Given the description of an element on the screen output the (x, y) to click on. 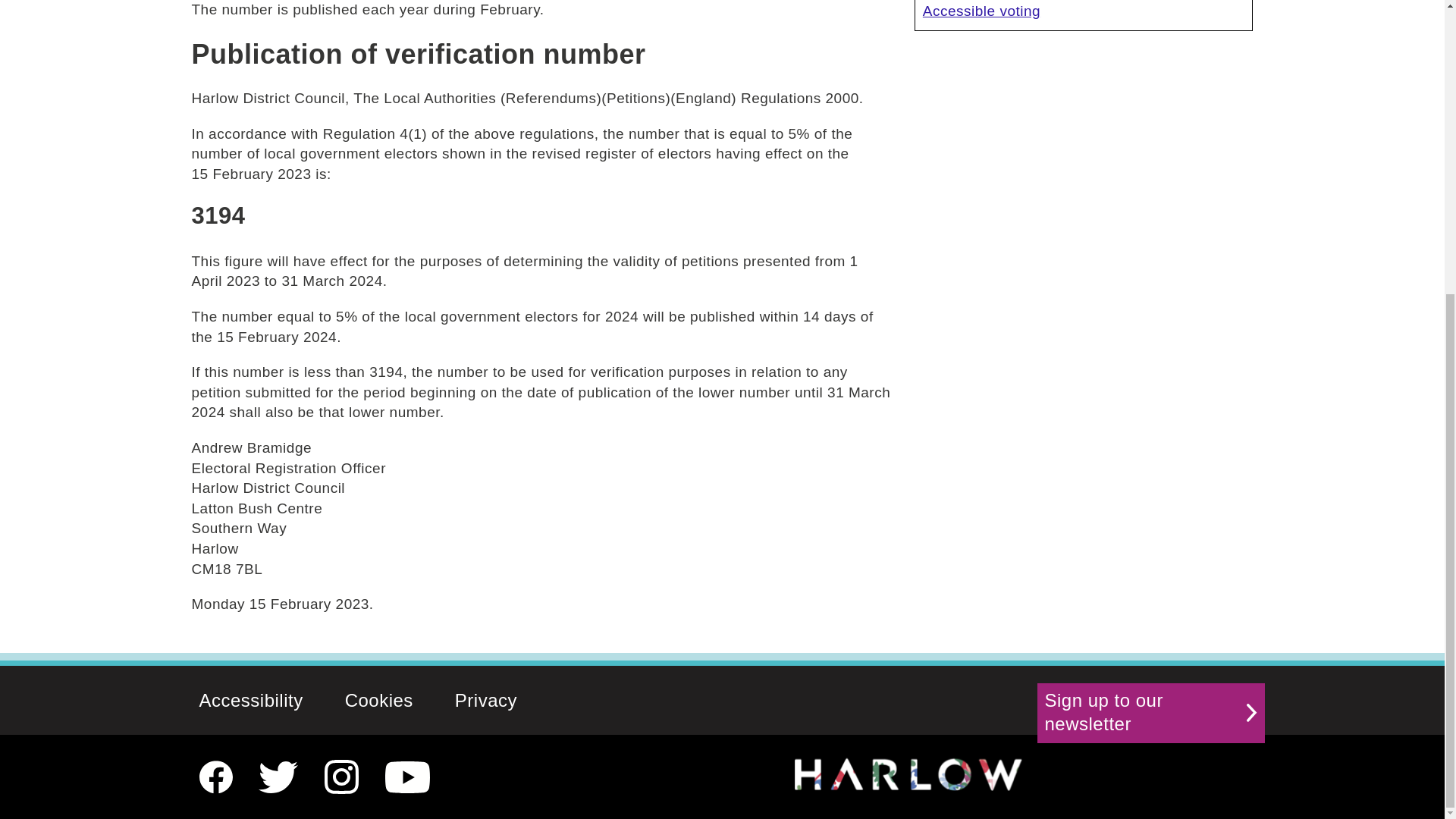
See us on YouTube (407, 776)
Accessible voting (1083, 11)
Follow us on Twitter (277, 776)
Join us on Facebook (215, 777)
Discover Harlow (908, 774)
Privacy (485, 700)
Sign up to our newsletter (1150, 712)
Follow us on Instagram (341, 776)
Cookies (379, 700)
Accessibility (250, 700)
